Given the description of an element on the screen output the (x, y) to click on. 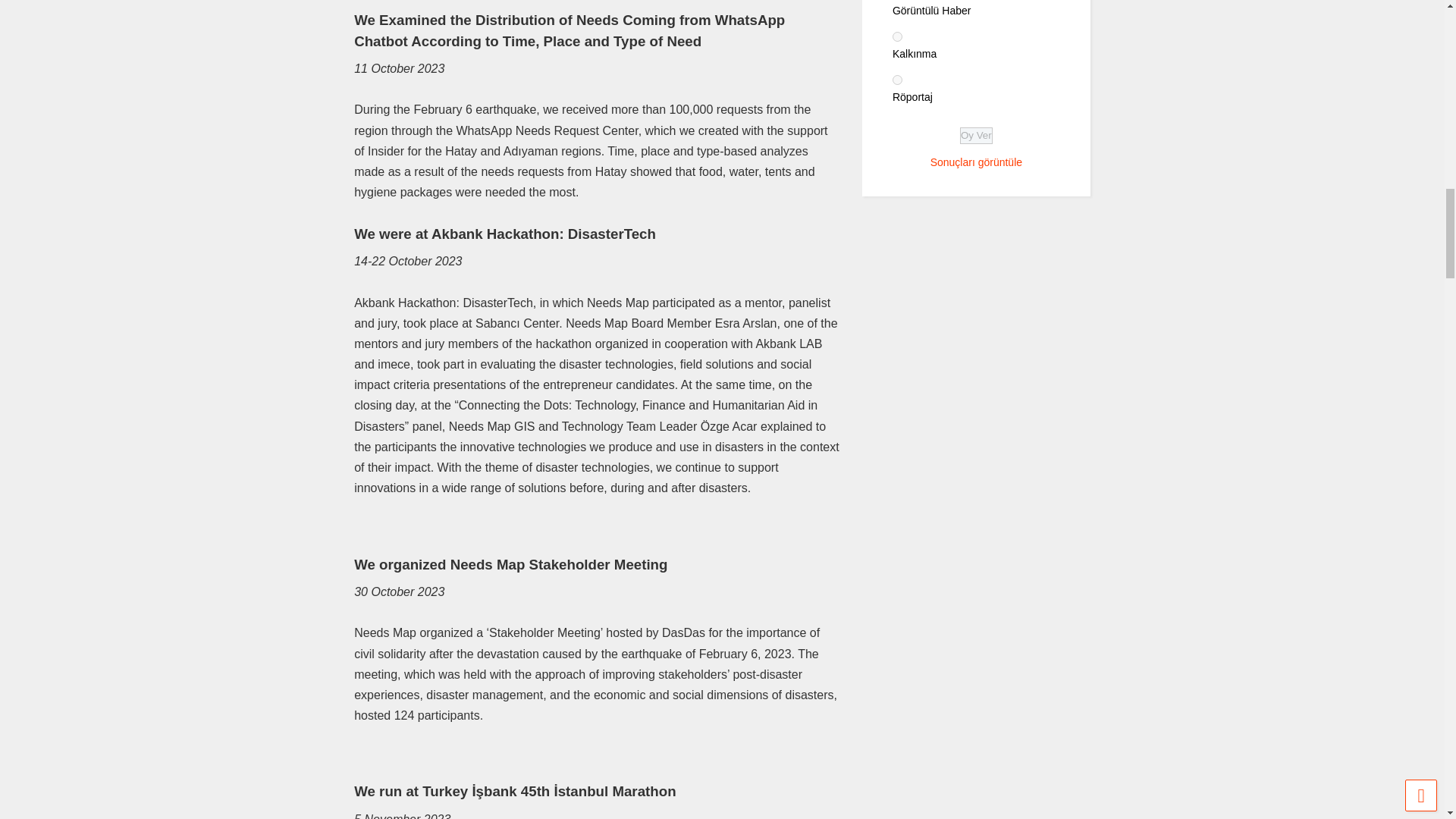
   Oy Ver    (975, 135)
2 (897, 36)
3 (897, 80)
